Given the description of an element on the screen output the (x, y) to click on. 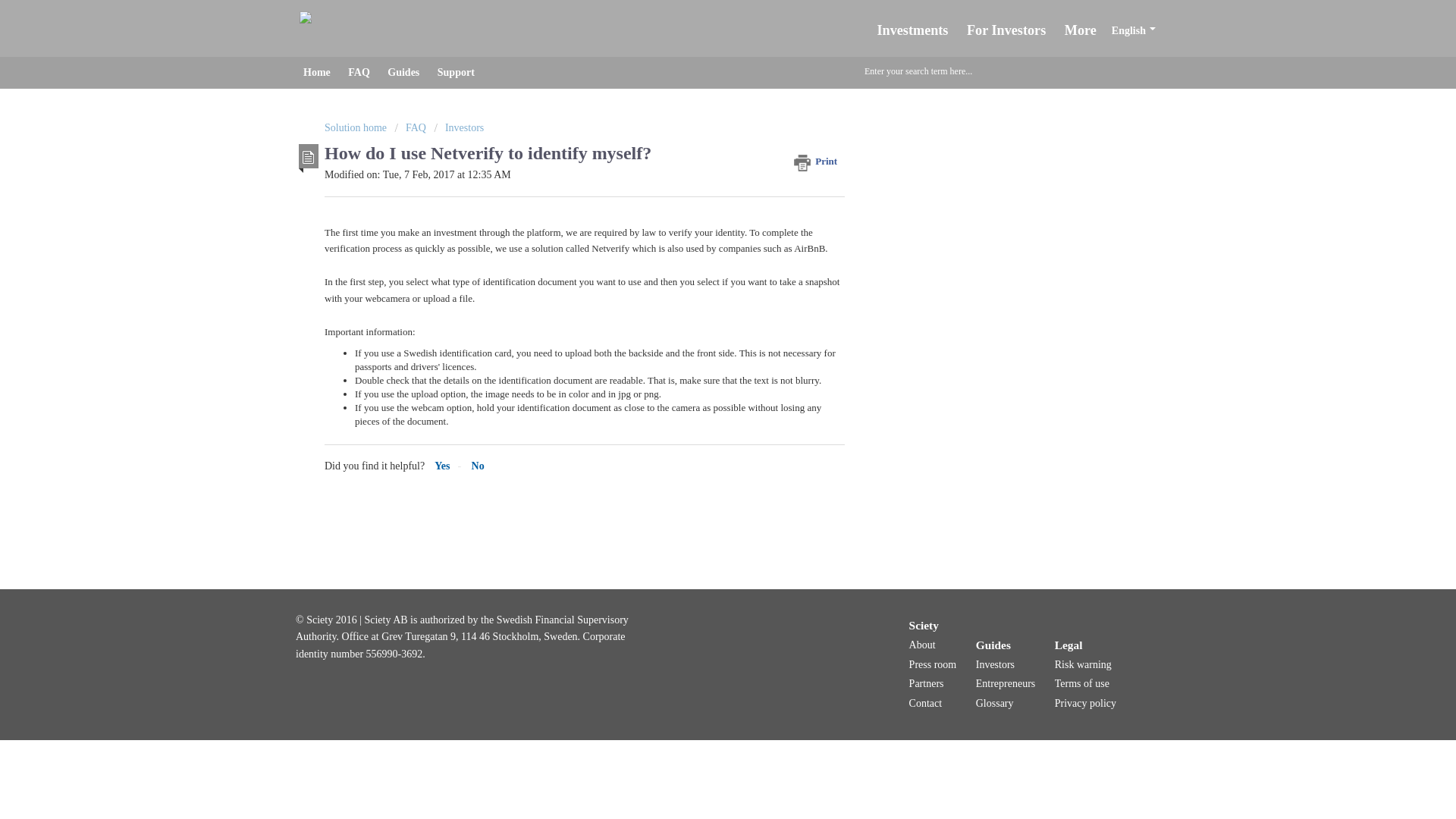
Home (316, 72)
Risk warning (1083, 663)
Glossary (994, 703)
Terms of use (1081, 683)
Investments (914, 30)
Entrepreneurs (1005, 683)
Sciety (923, 625)
Support (455, 72)
Partners (925, 683)
Contact (925, 703)
Investors (994, 663)
About (922, 644)
Guides (992, 644)
FAQ (358, 72)
For Investors (1008, 30)
